Given the description of an element on the screen output the (x, y) to click on. 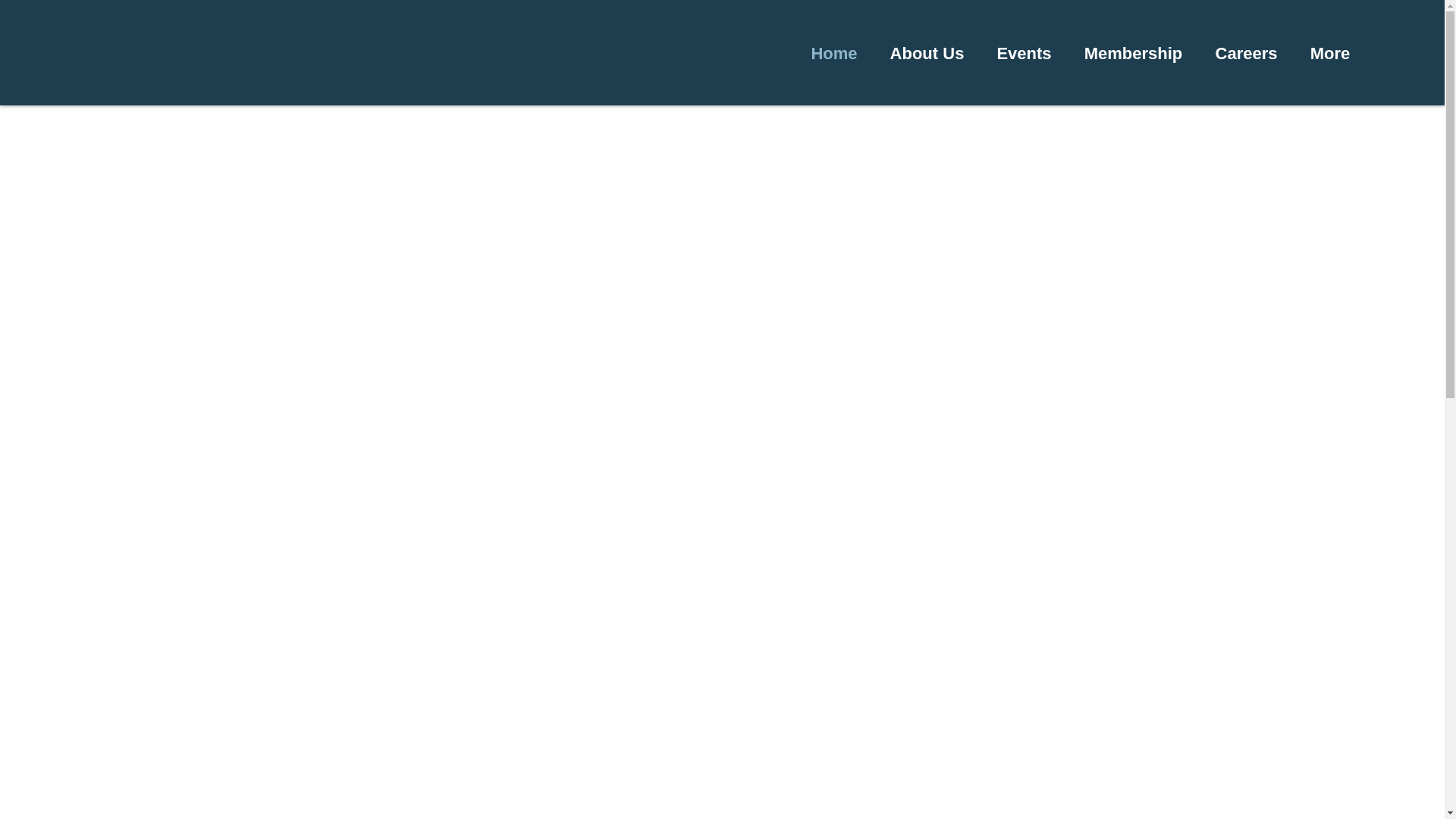
About Us (926, 53)
Careers (1246, 53)
Events (1023, 53)
Home (833, 53)
Membership (1132, 53)
